Given the description of an element on the screen output the (x, y) to click on. 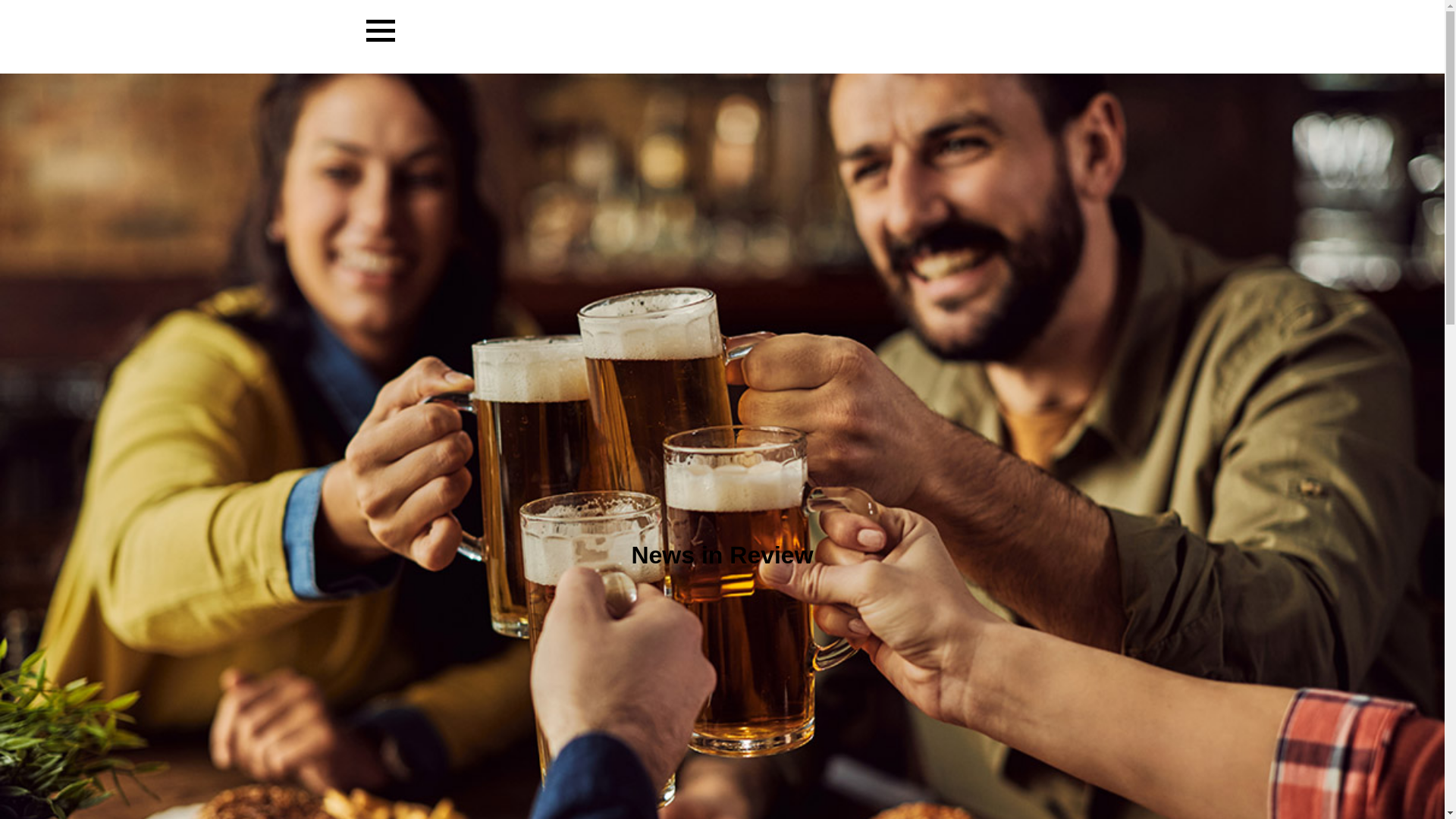
Search (1076, 9)
Menu (379, 30)
